Given the description of an element on the screen output the (x, y) to click on. 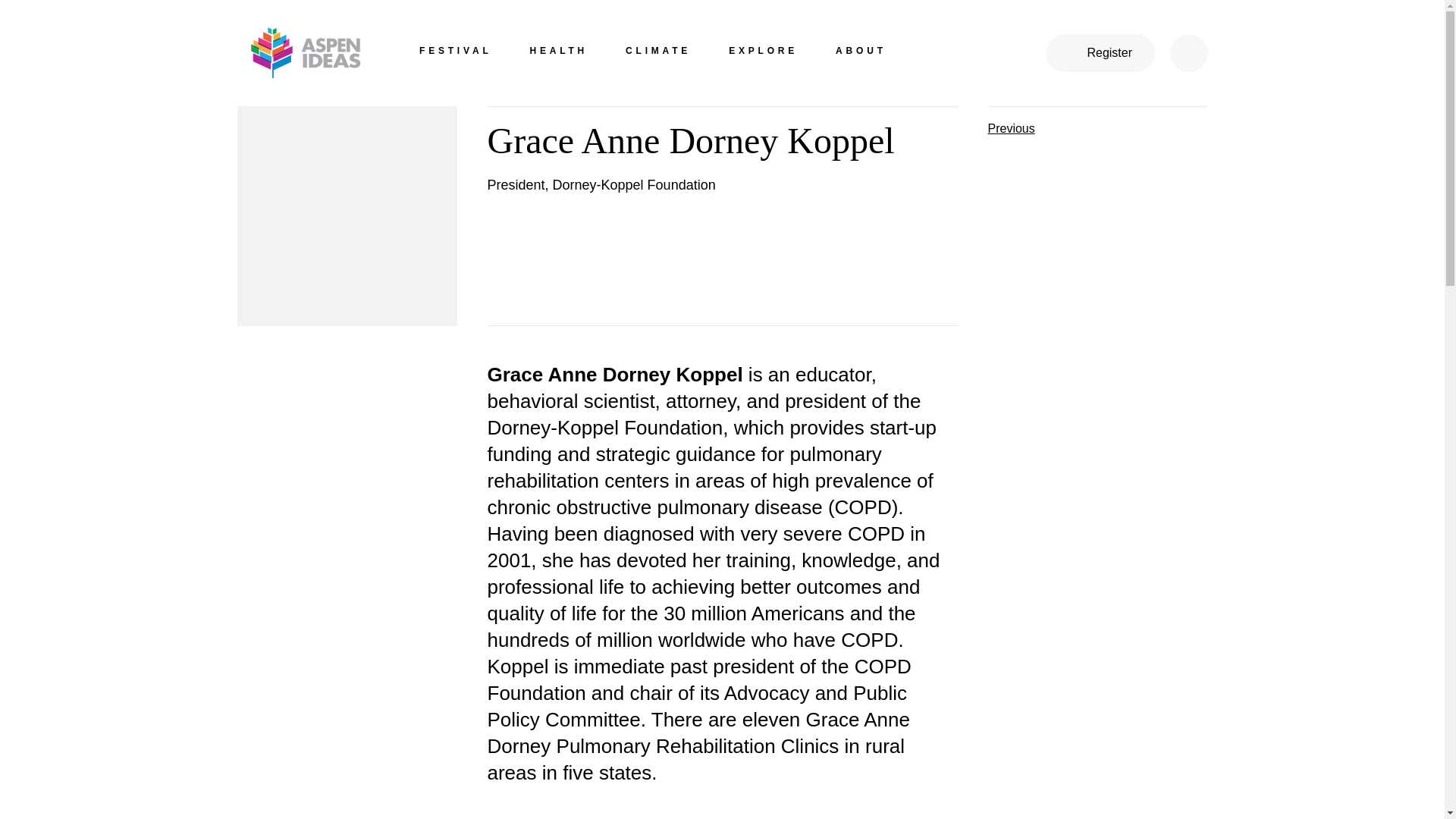
ABOUT (860, 52)
EXPLORE (763, 52)
Register (1099, 53)
HEALTH (558, 52)
FESTIVAL (455, 52)
Previous (1097, 124)
CLIMATE (658, 52)
